Given the description of an element on the screen output the (x, y) to click on. 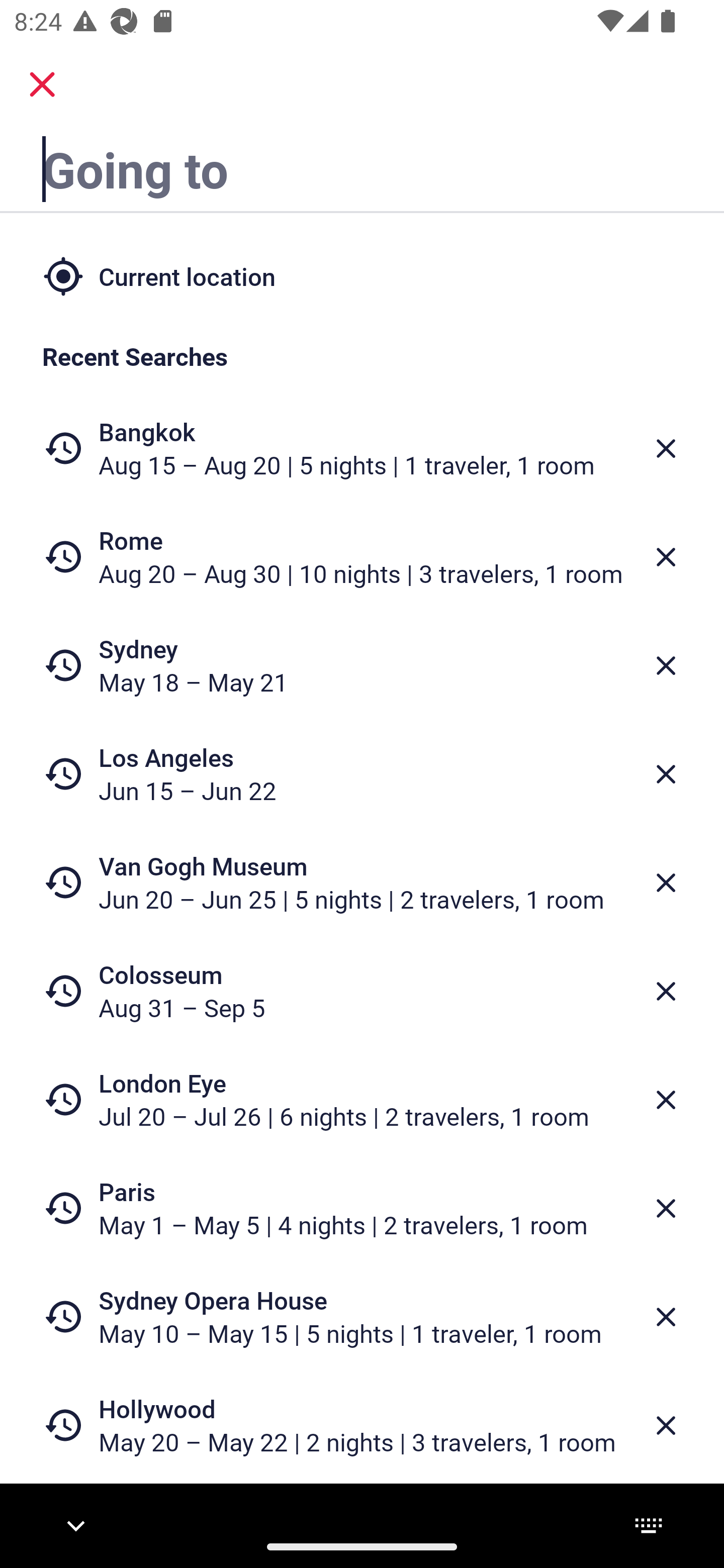
close. (42, 84)
Current location (362, 275)
Delete from recent searches (666, 448)
Delete from recent searches (666, 556)
Sydney May 18 – May 21 (362, 665)
Delete from recent searches (666, 666)
Los Angeles Jun 15 – Jun 22 (362, 773)
Delete from recent searches (666, 774)
Delete from recent searches (666, 882)
Colosseum Aug 31 – Sep 5 (362, 990)
Delete from recent searches (666, 990)
Delete from recent searches (666, 1100)
Delete from recent searches (666, 1208)
Delete from recent searches (666, 1316)
Delete from recent searches (666, 1424)
